Given the description of an element on the screen output the (x, y) to click on. 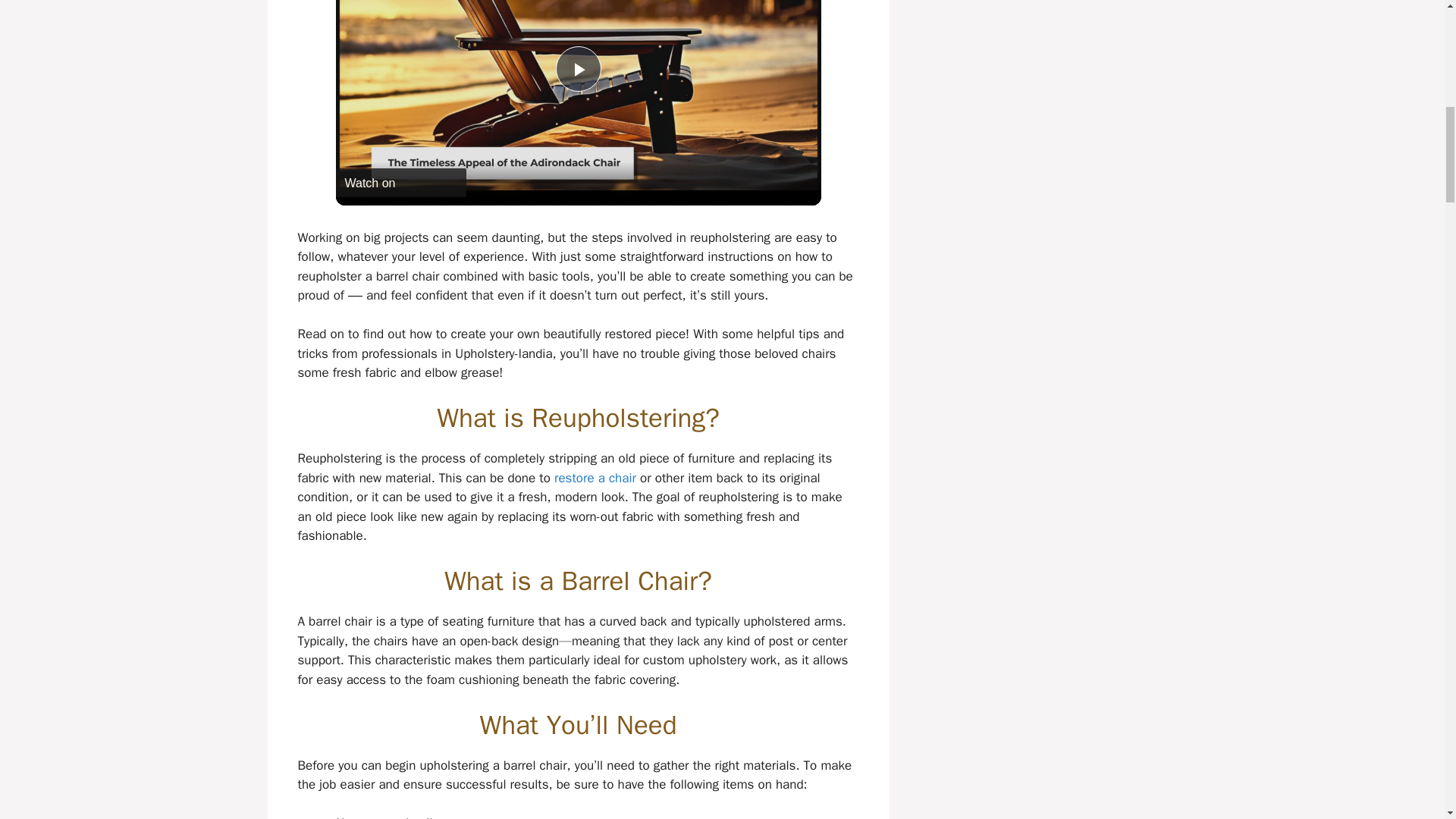
restore a chair (595, 478)
Play Video (576, 68)
Play Video (576, 68)
Scroll back to top (1406, 720)
Watch on (399, 182)
